Given the description of an element on the screen output the (x, y) to click on. 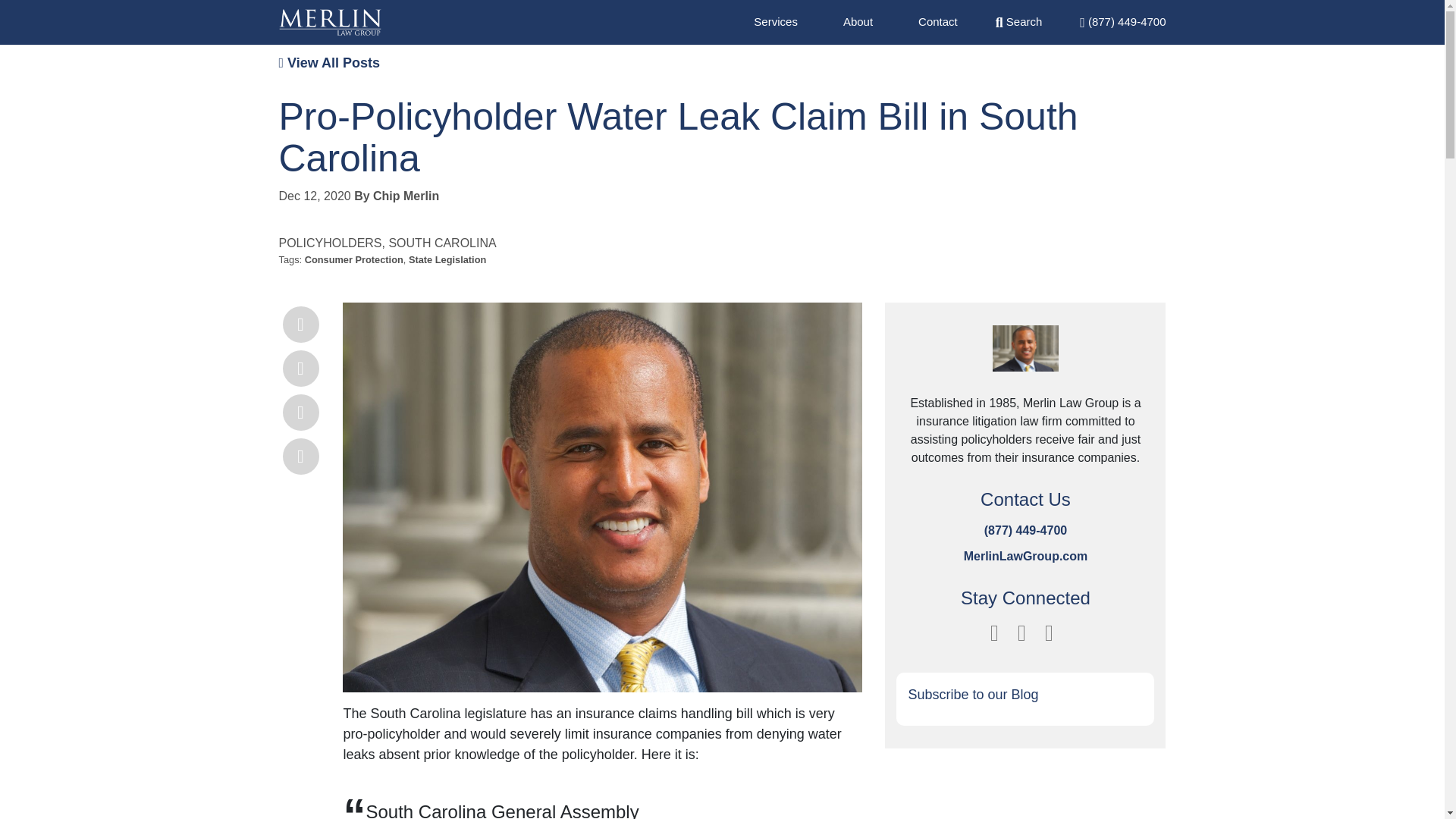
Property Insurance Coverage Law Blog (330, 22)
By Chip Merlin (396, 195)
SOUTH CAROLINA (442, 242)
State Legislation (447, 259)
Search (1018, 21)
POLICYHOLDERS (330, 242)
Menu (1123, 21)
Services (775, 21)
About (857, 21)
Search (1018, 21)
